Given the description of an element on the screen output the (x, y) to click on. 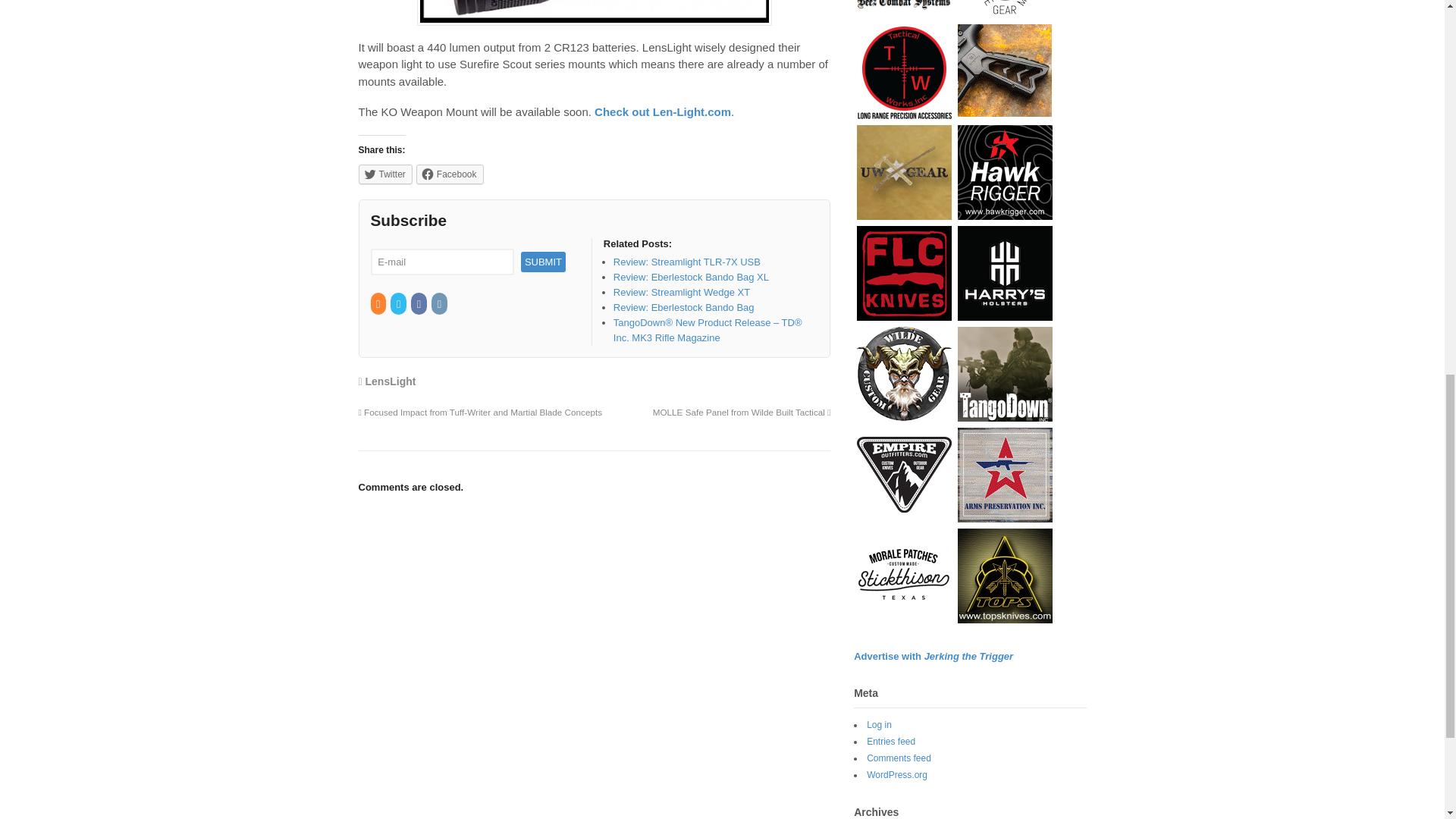
MOLLE Safe Panel from Wilde Built Tactical (741, 411)
LensLight (390, 381)
Submit (543, 261)
Review: Eberlestock Bando Bag XL (690, 276)
Facebook (419, 304)
Twitter (385, 174)
Review: Streamlight Wedge XT (680, 292)
Focused Impact from Tuff-Writer and Martial Blade Concepts (480, 411)
E-mail (441, 261)
Submit (543, 261)
